Given the description of an element on the screen output the (x, y) to click on. 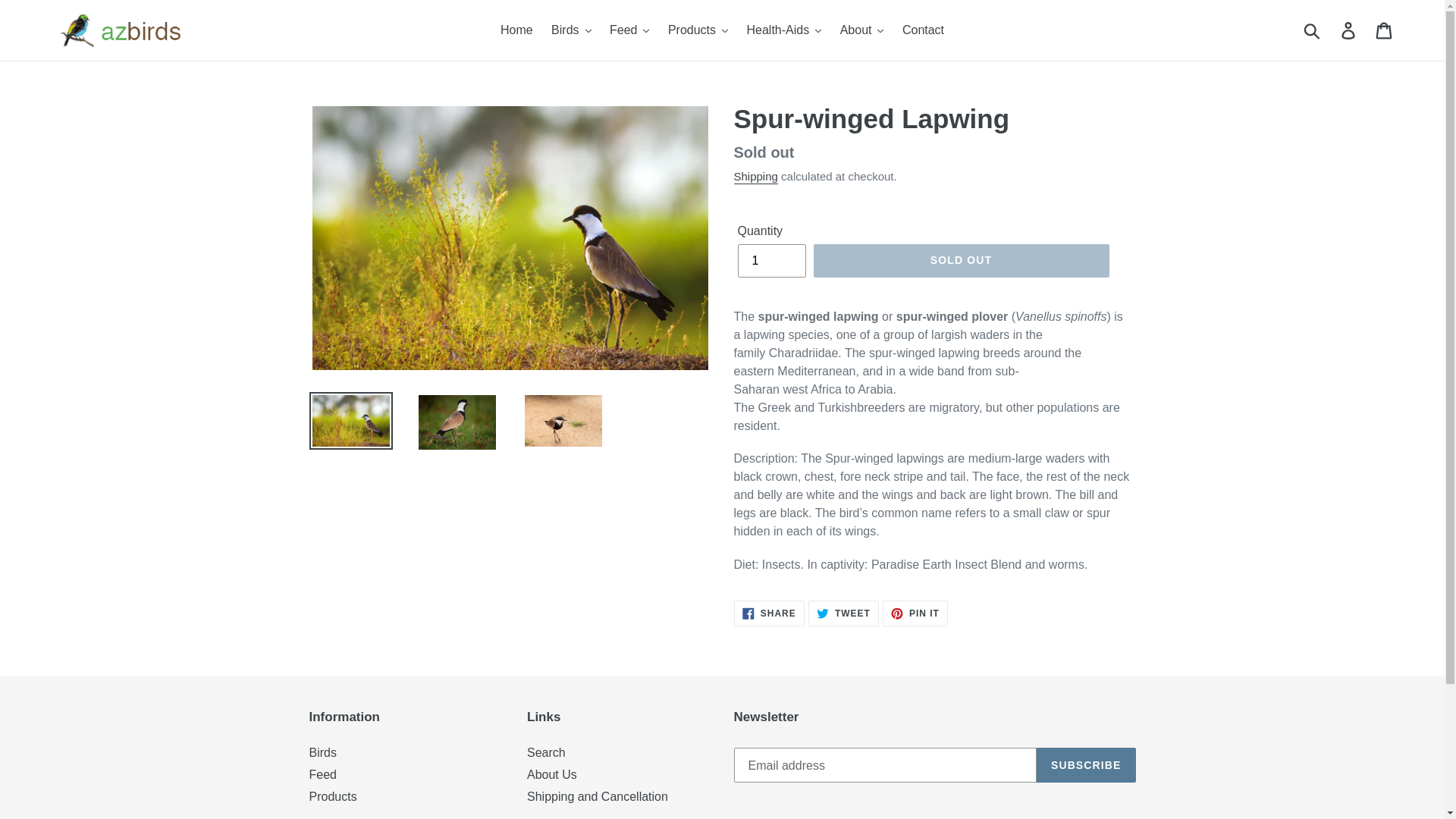
Home (516, 29)
1 (770, 260)
